Given the description of an element on the screen output the (x, y) to click on. 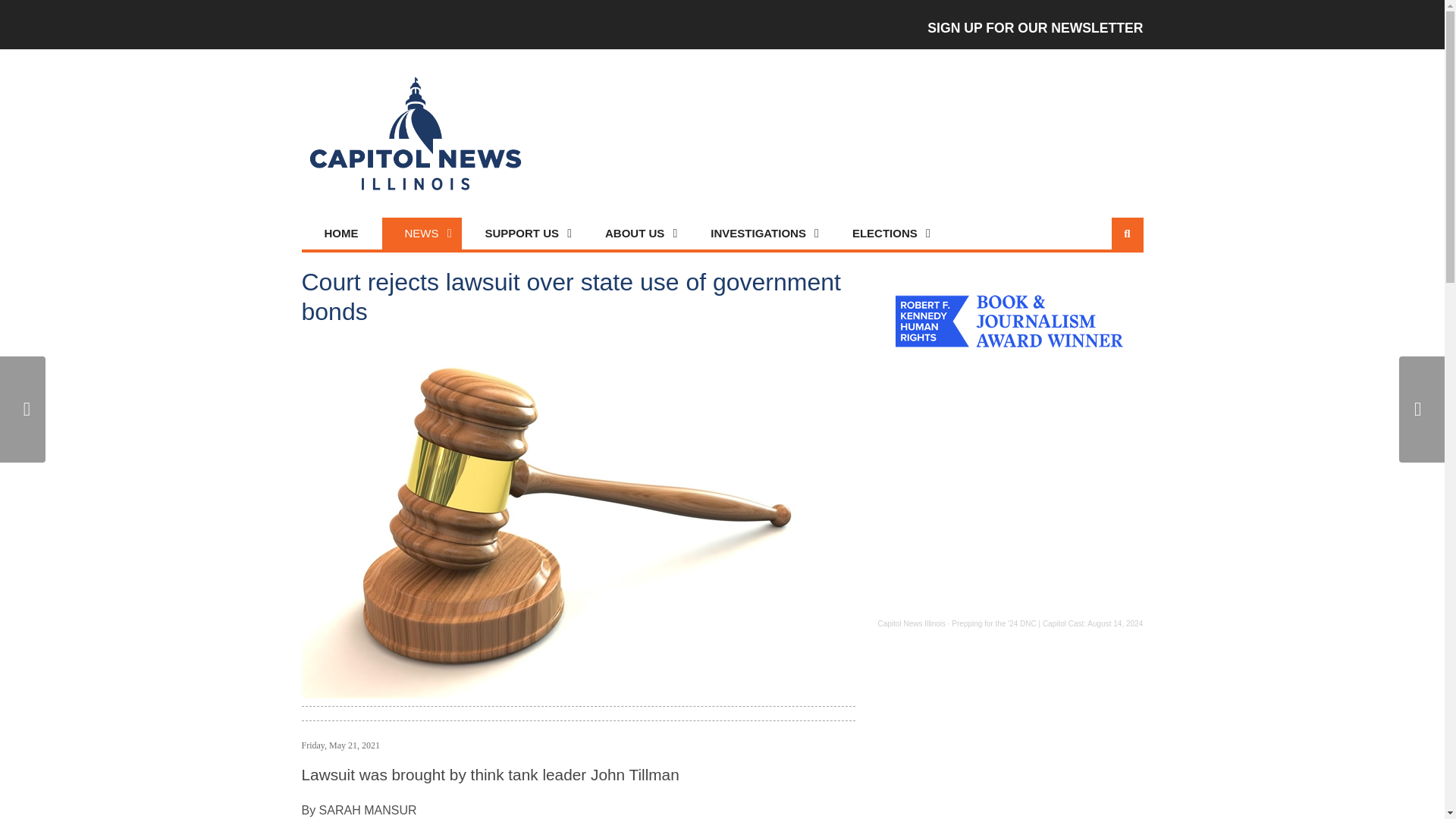
Capitolnewsillinois.com (415, 133)
SUPPORT US (522, 233)
Capitol News Illinois (910, 623)
 SIGN UP FOR OUR NEWSLETTER (1032, 23)
HOME (341, 233)
NEWS (421, 233)
ELECTIONS (884, 233)
INVESTIGATIONS (757, 233)
